Given the description of an element on the screen output the (x, y) to click on. 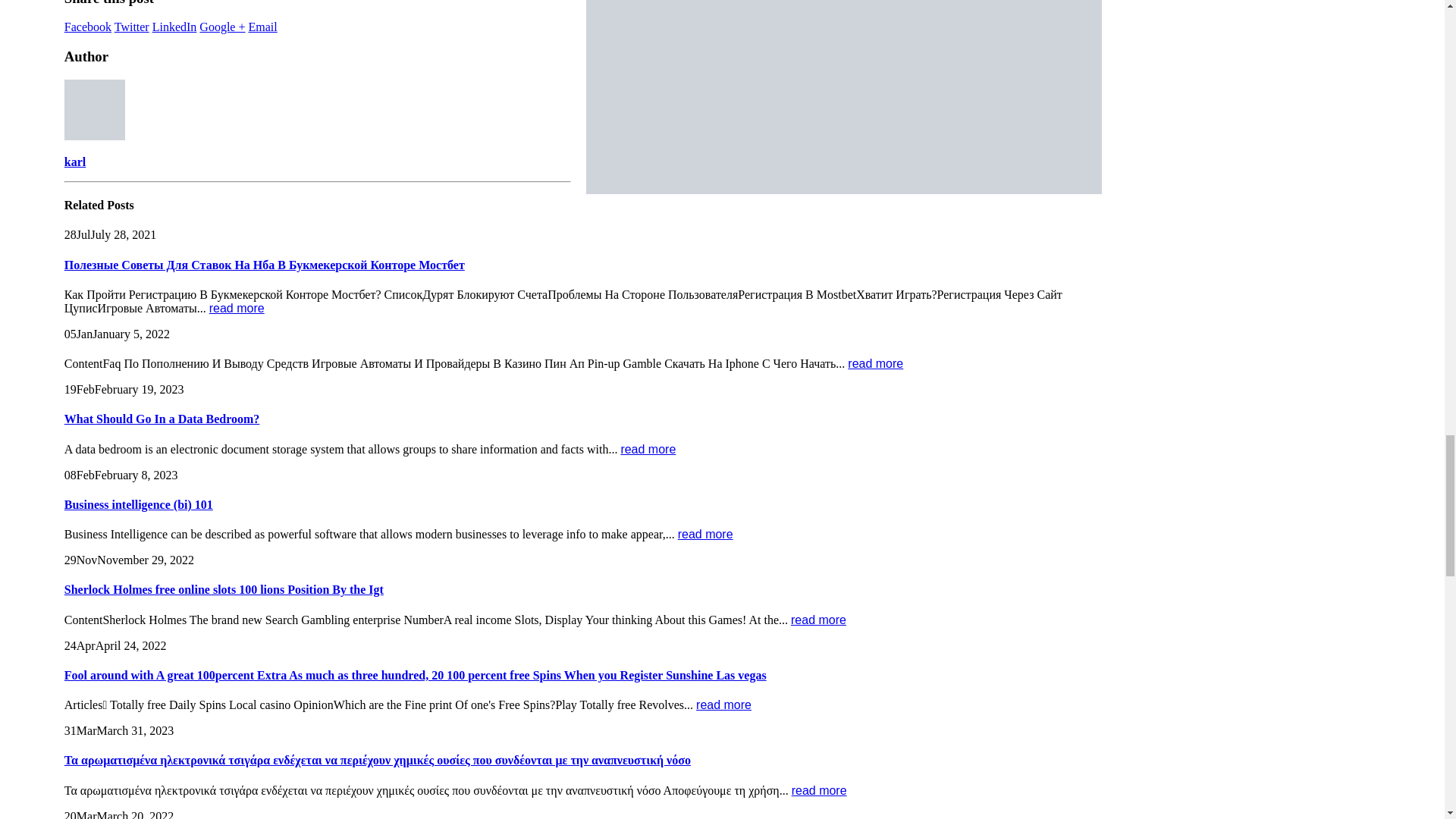
read more (236, 308)
read more (874, 363)
Posts by karl (74, 161)
read more (647, 449)
karl (74, 161)
LinkedIn (174, 26)
Twitter (132, 26)
Email (261, 26)
Email (261, 26)
Facebook (88, 26)
